Given the description of an element on the screen output the (x, y) to click on. 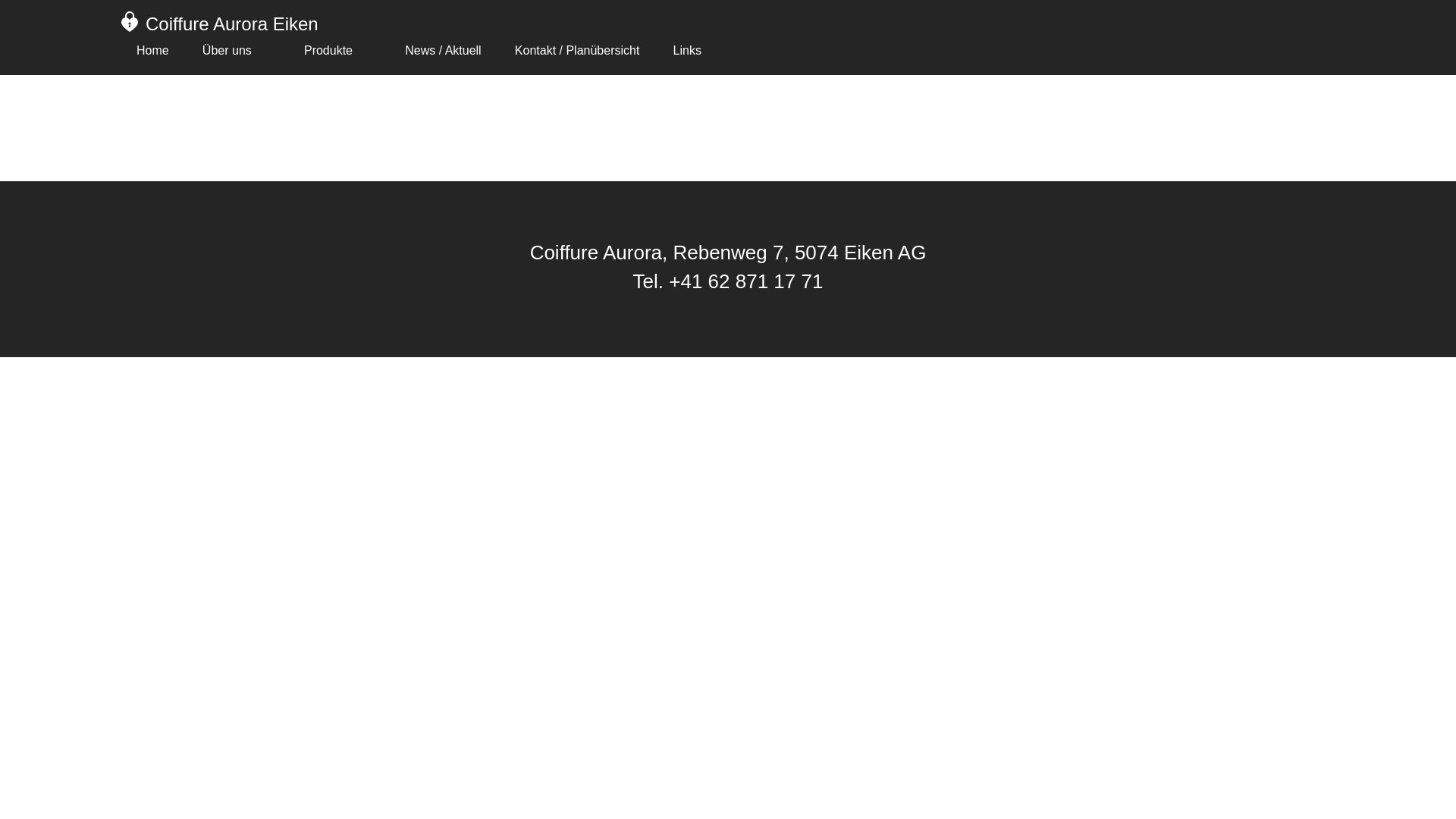
Links Element type: text (687, 50)
Home Element type: text (152, 50)
Coiffure Aurora Eiken Element type: text (231, 23)
News / Aktuell Element type: text (442, 50)
